Given the description of an element on the screen output the (x, y) to click on. 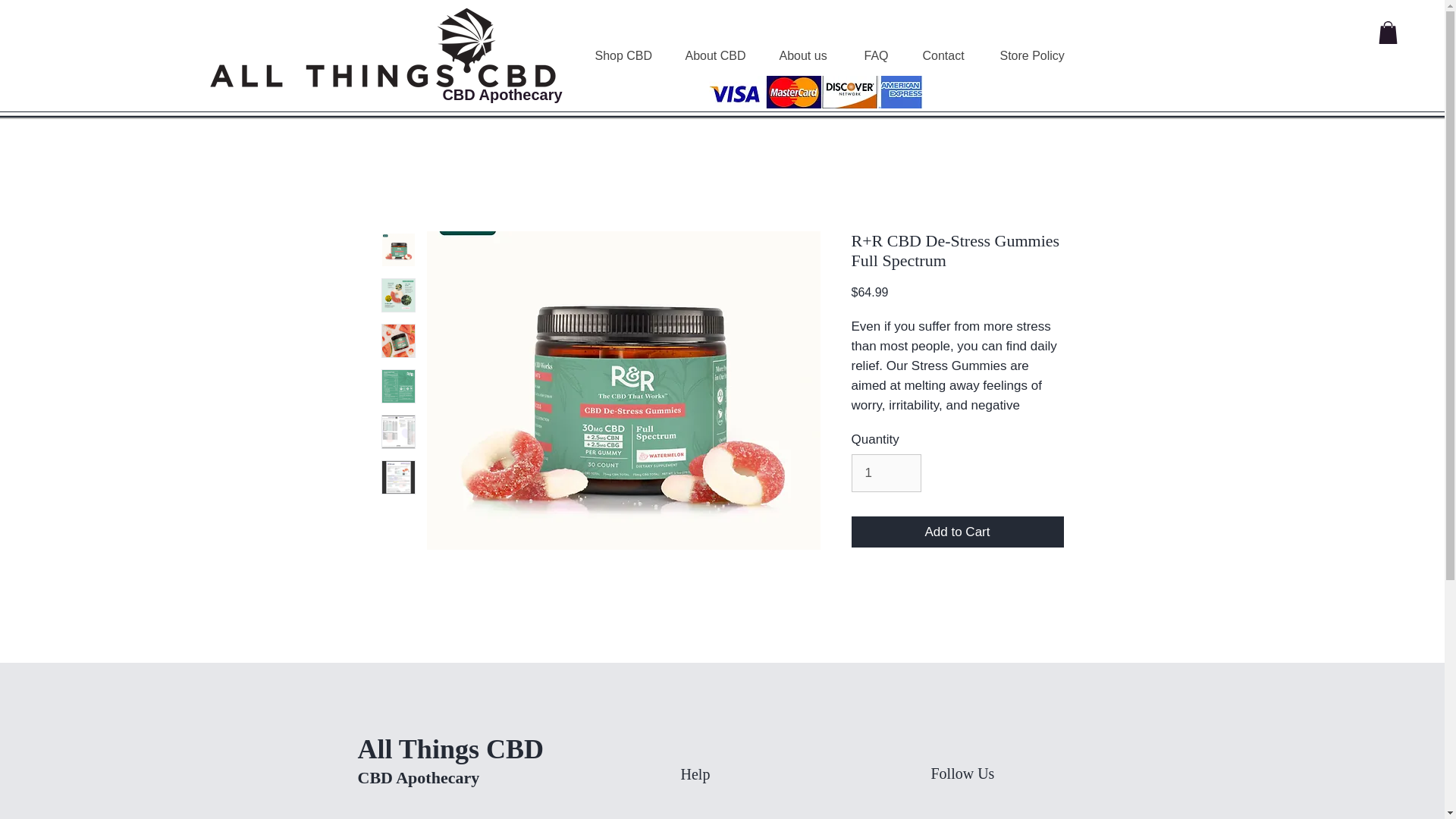
1 (885, 472)
About CBD (719, 55)
Shop CBD (627, 55)
About us (809, 55)
Contact (949, 55)
FAQ (880, 55)
Add to Cart (956, 531)
Store Policy (1037, 55)
CBD Apothecary (502, 94)
